Given the description of an element on the screen output the (x, y) to click on. 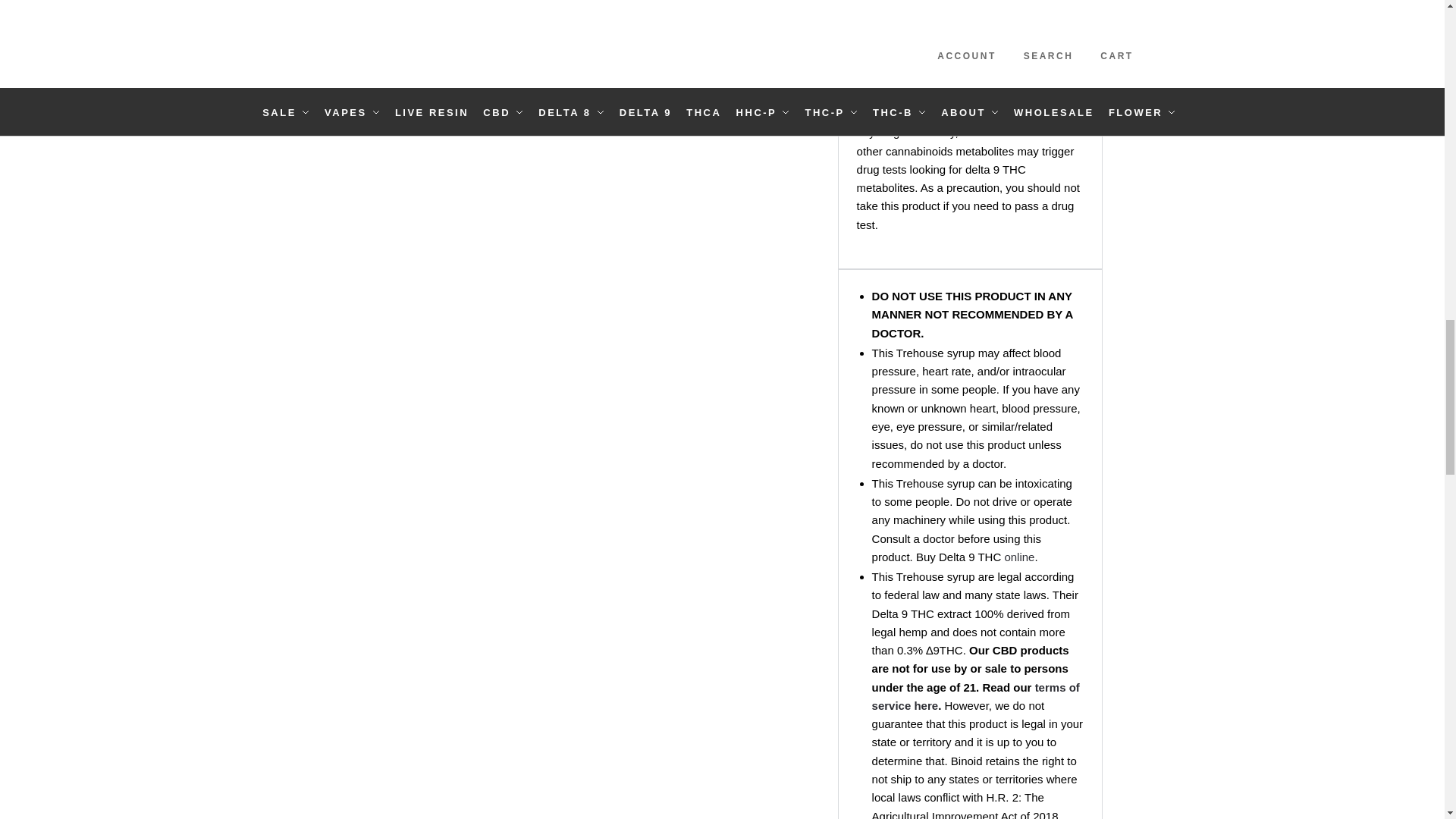
Buy Delta 9 THC online (1018, 556)
